Given the description of an element on the screen output the (x, y) to click on. 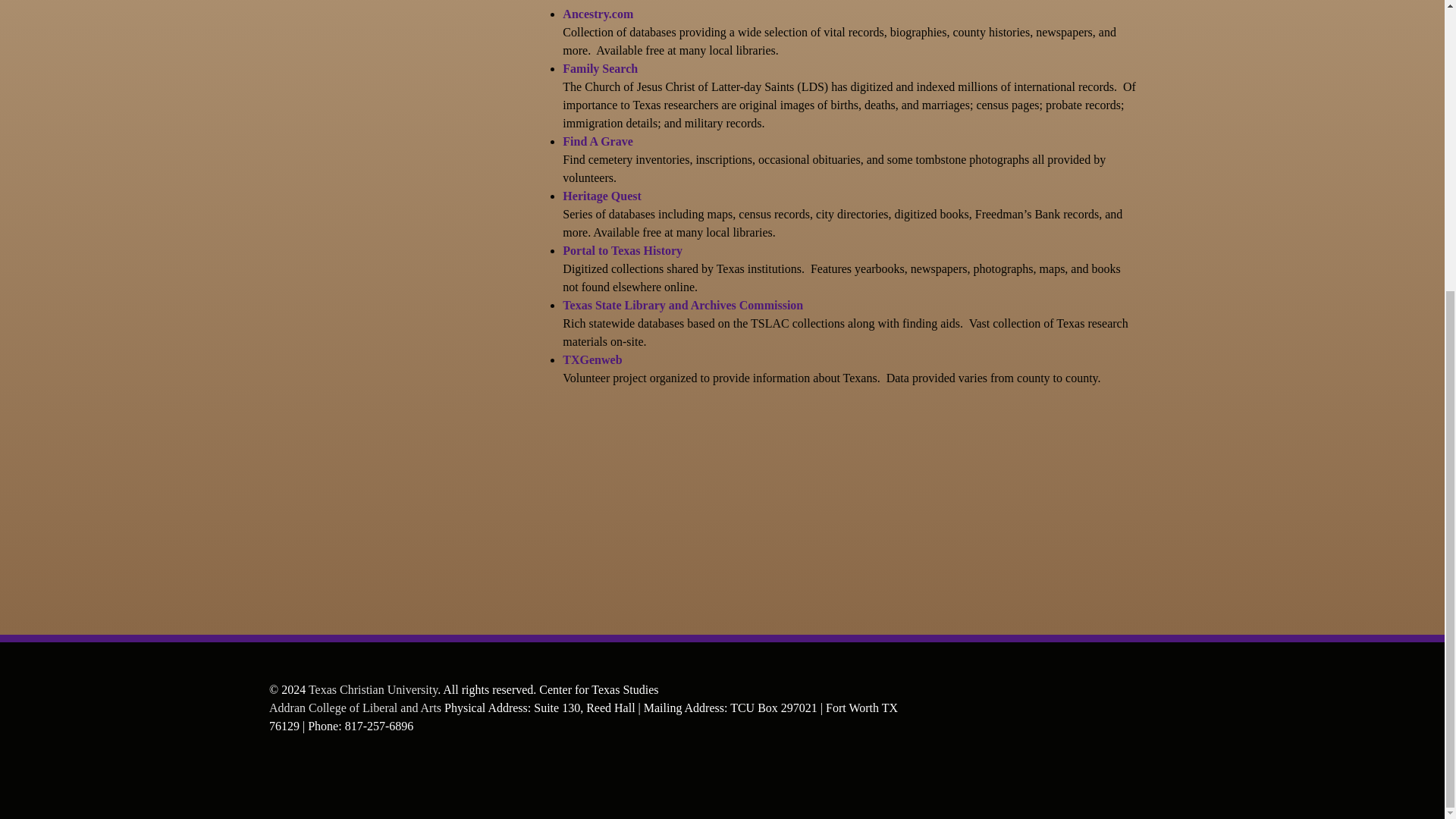
Find A Grave (596, 141)
Portal to Texas History (622, 250)
Family Search (599, 68)
Heritage Quest (602, 195)
Ancestry.com (597, 13)
